Given the description of an element on the screen output the (x, y) to click on. 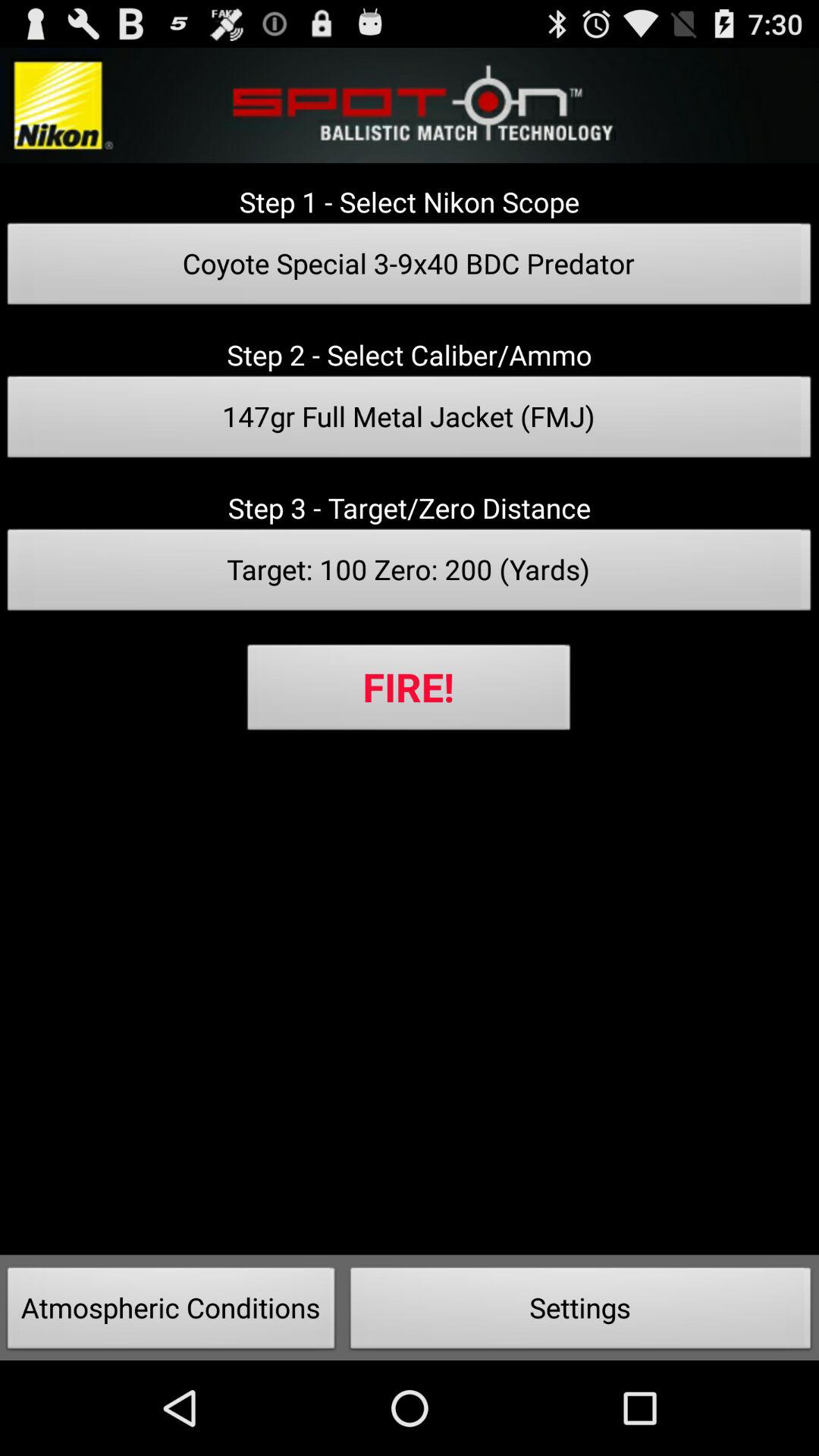
click the item above the step 2 select (409, 268)
